Given the description of an element on the screen output the (x, y) to click on. 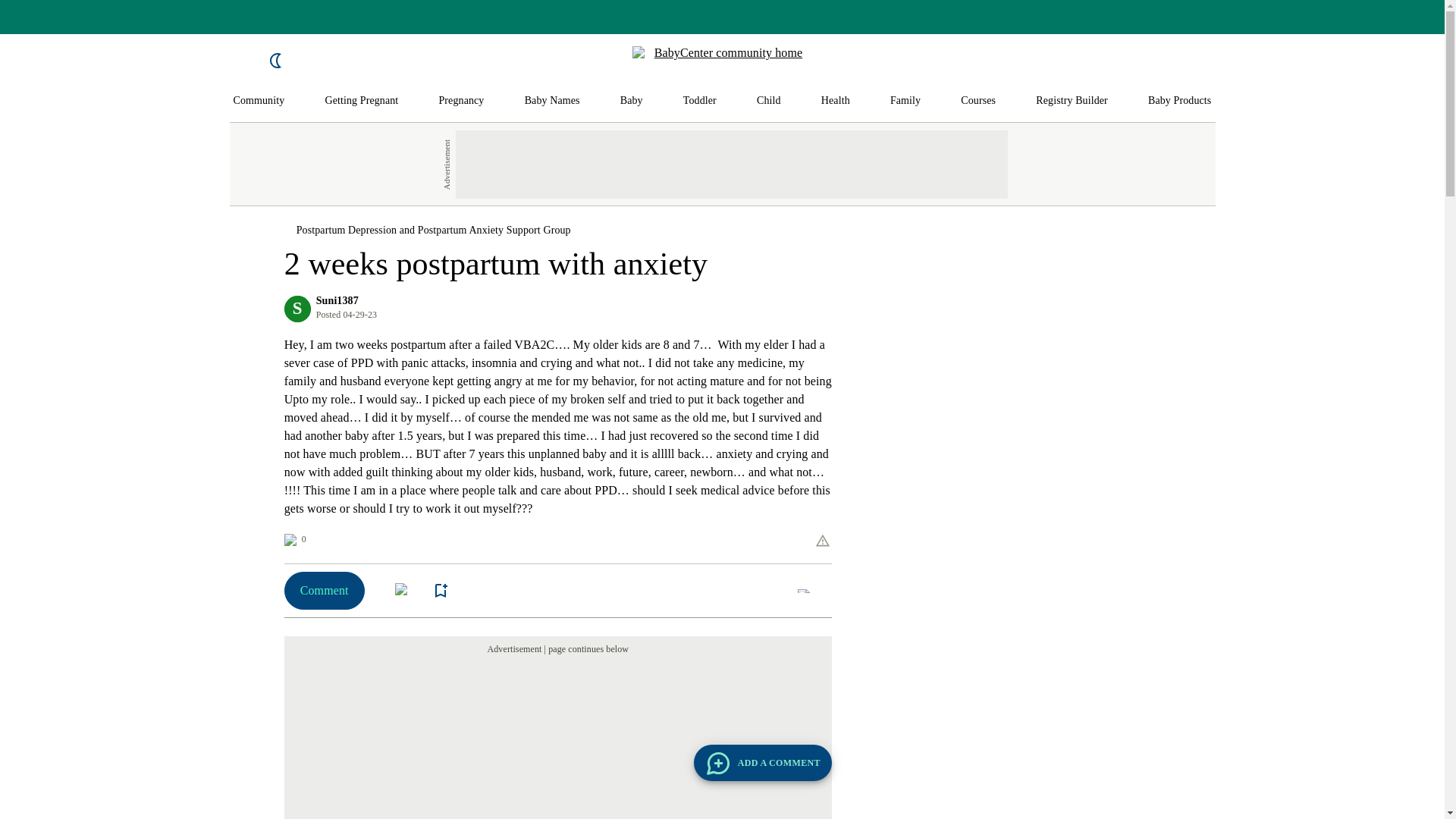
Health (835, 101)
Courses (977, 101)
Toddler (699, 101)
Community (258, 101)
Child (768, 101)
Family (904, 101)
Getting Pregnant (360, 101)
Registry Builder (1071, 101)
Pregnancy (460, 101)
Baby (631, 101)
Baby Products (1179, 101)
Baby Names (551, 101)
